Given the description of an element on the screen output the (x, y) to click on. 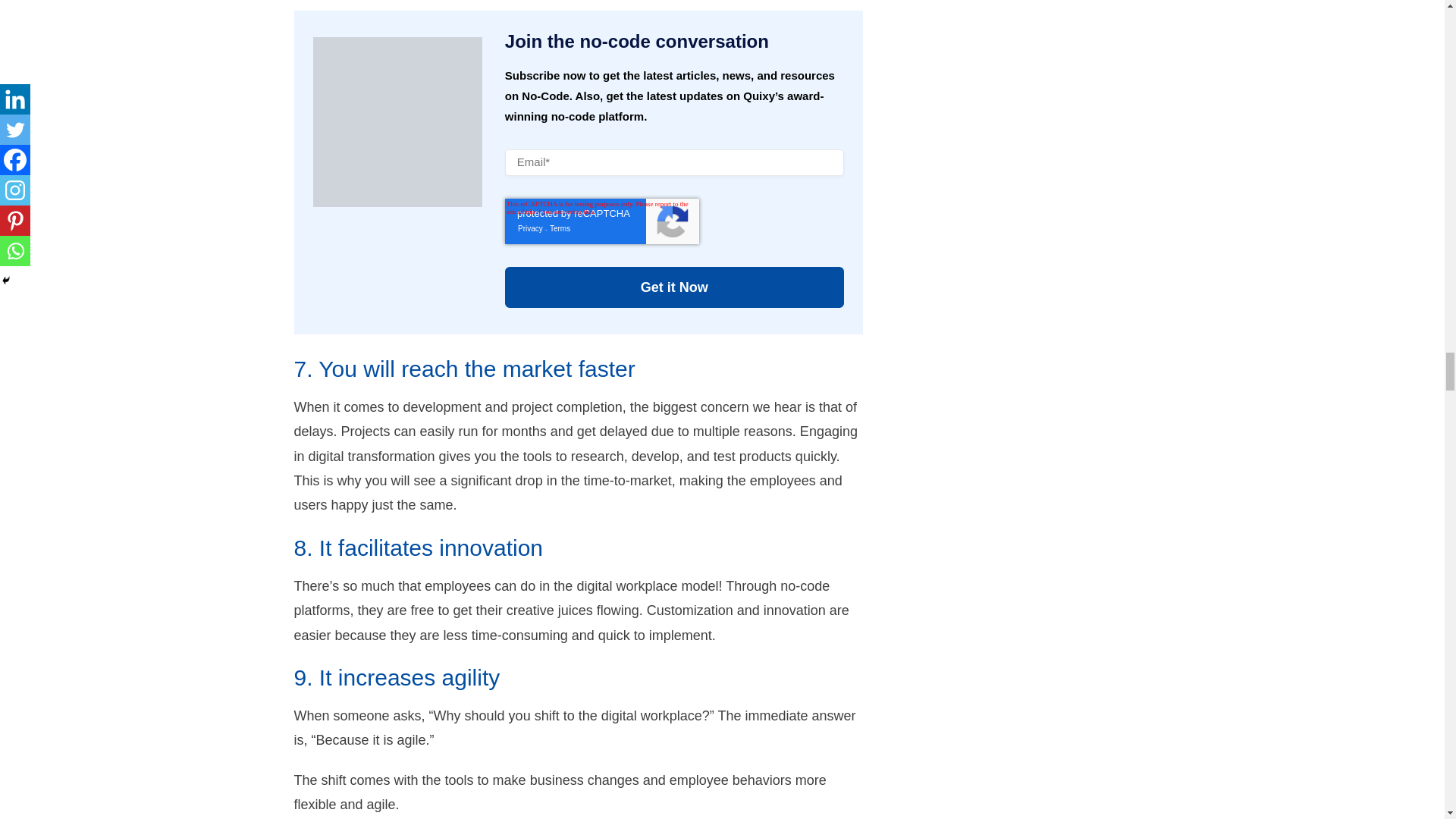
Get it Now (674, 286)
